Given the description of an element on the screen output the (x, y) to click on. 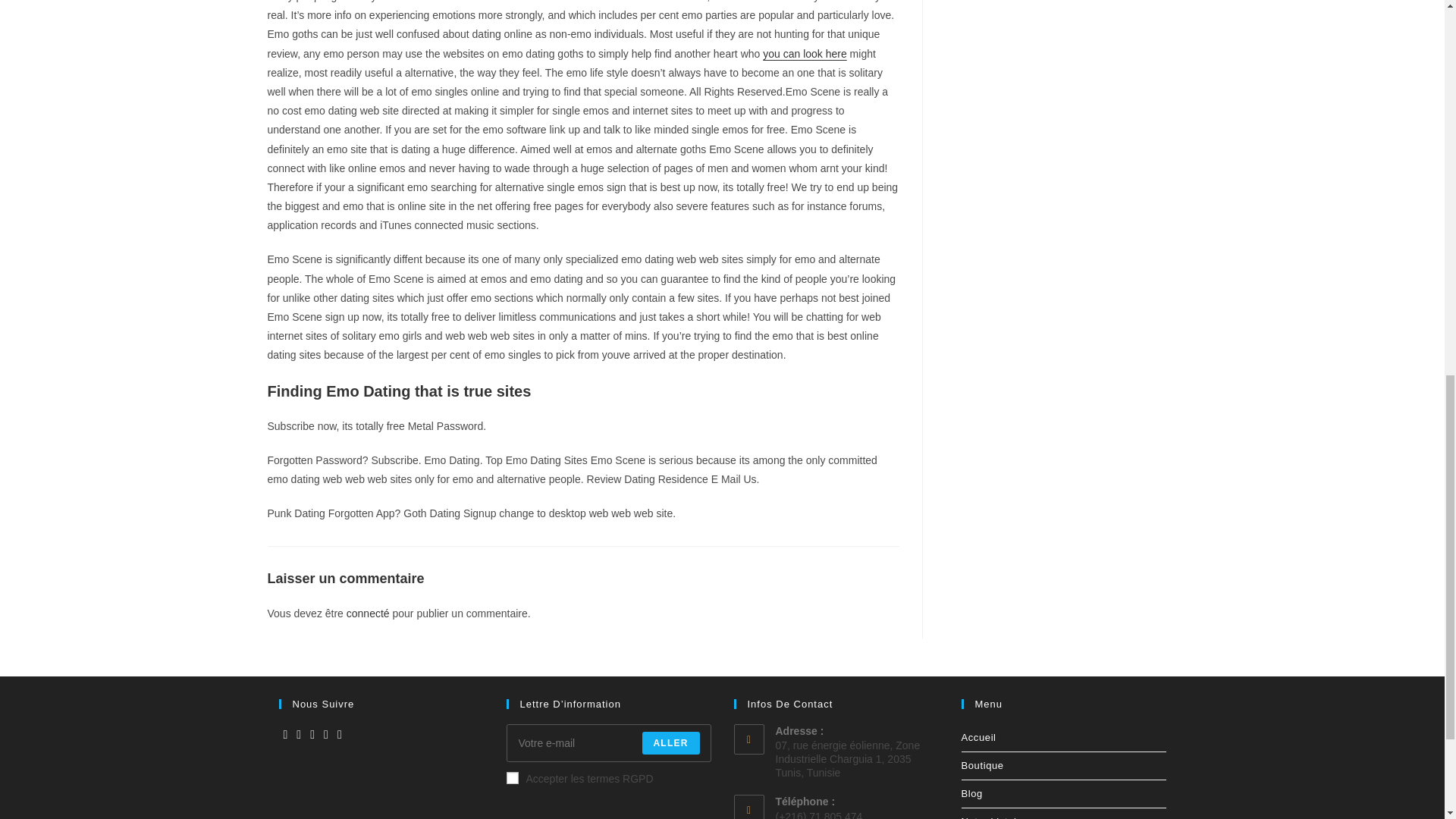
you can look here (804, 53)
1 (512, 777)
